Given the description of an element on the screen output the (x, y) to click on. 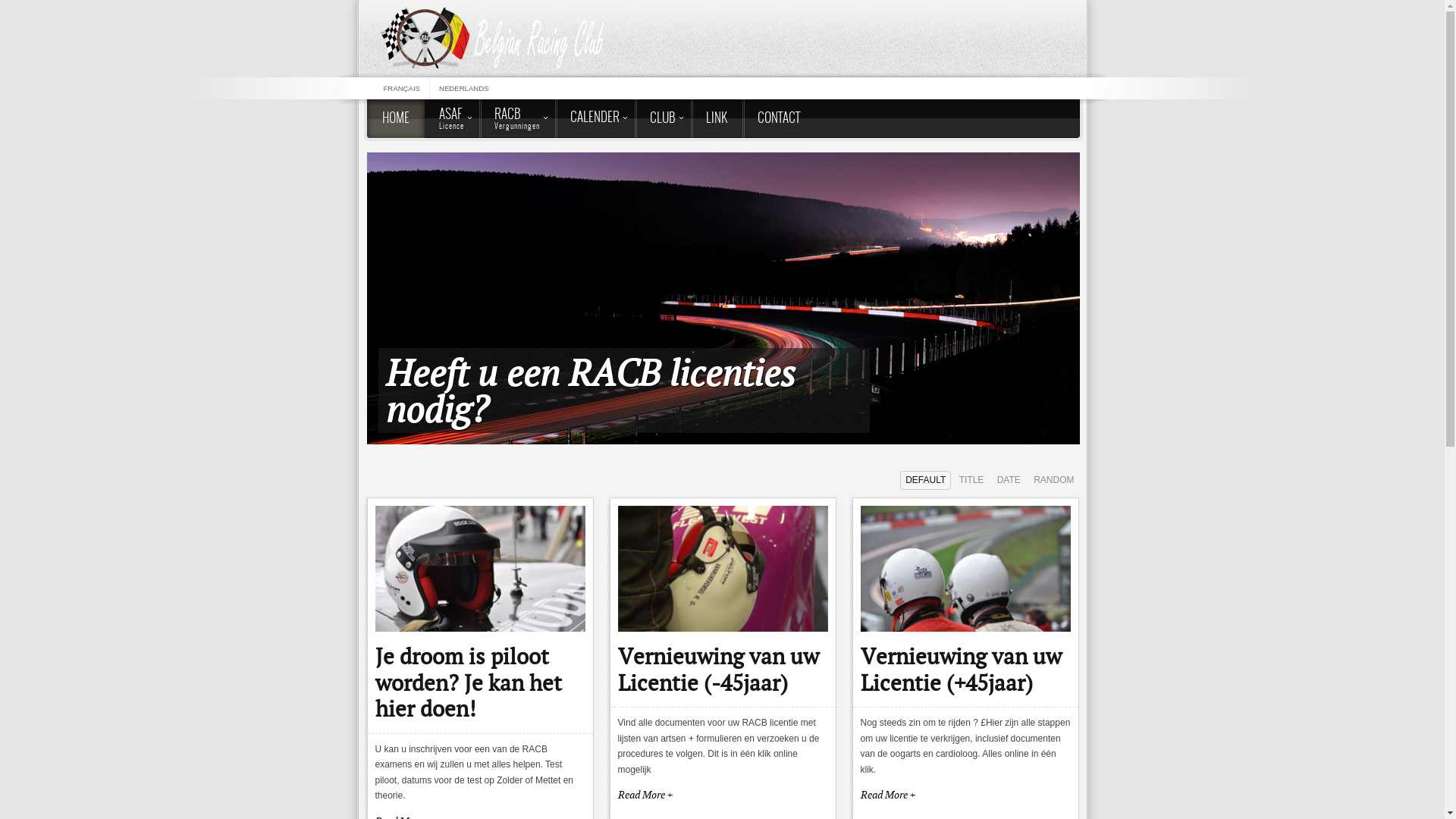
Read More + Element type: text (722, 794)
Je droom is piloot worden? Je kan het hier doen! Element type: text (467, 681)
Vernieuwing van uw Licentie (+45jaar) Element type: text (959, 668)
HOME Element type: text (395, 118)
RACB
Vergunningen Element type: text (517, 118)
CLUB Element type: text (661, 118)
CONTACT Element type: text (777, 118)
LINK Element type: text (715, 118)
NEDERLANDS Element type: text (463, 88)
Vernieuwing van uw Licentie (-45jaar) Element type: text (717, 668)
Read More + Element type: text (964, 794)
